Given the description of an element on the screen output the (x, y) to click on. 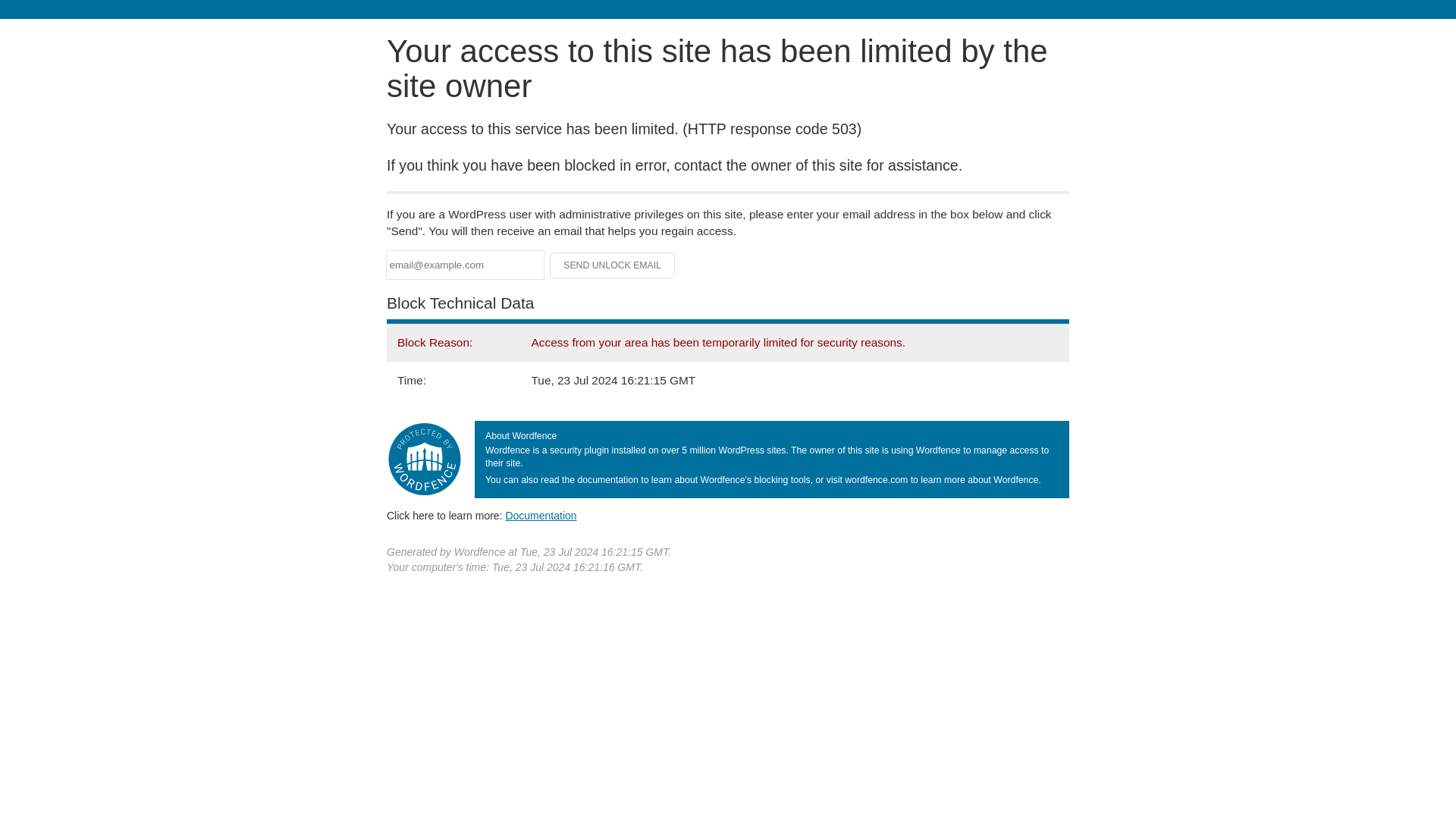
Send Unlock Email (612, 265)
Send Unlock Email (612, 265)
Documentation (540, 515)
